Given the description of an element on the screen output the (x, y) to click on. 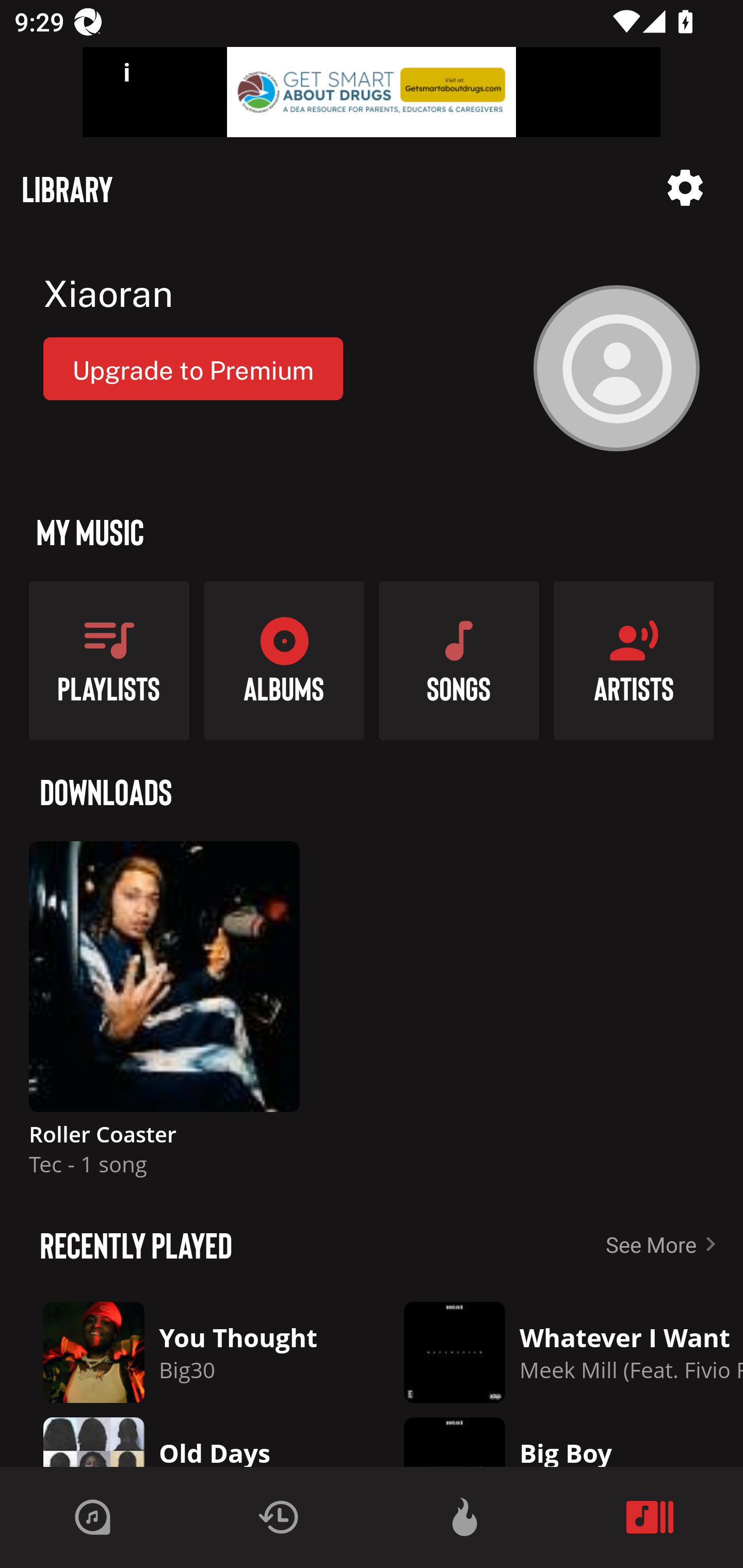
Description (684, 188)
Upgrade to Premium (193, 368)
Playlists (108, 660)
Albums (283, 660)
Songs (458, 660)
Artists (633, 660)
Description Roller Coaster Tec - 1 song (164, 1017)
See More (664, 1244)
Description You Thought Big30 (187, 1352)
